Given the description of an element on the screen output the (x, y) to click on. 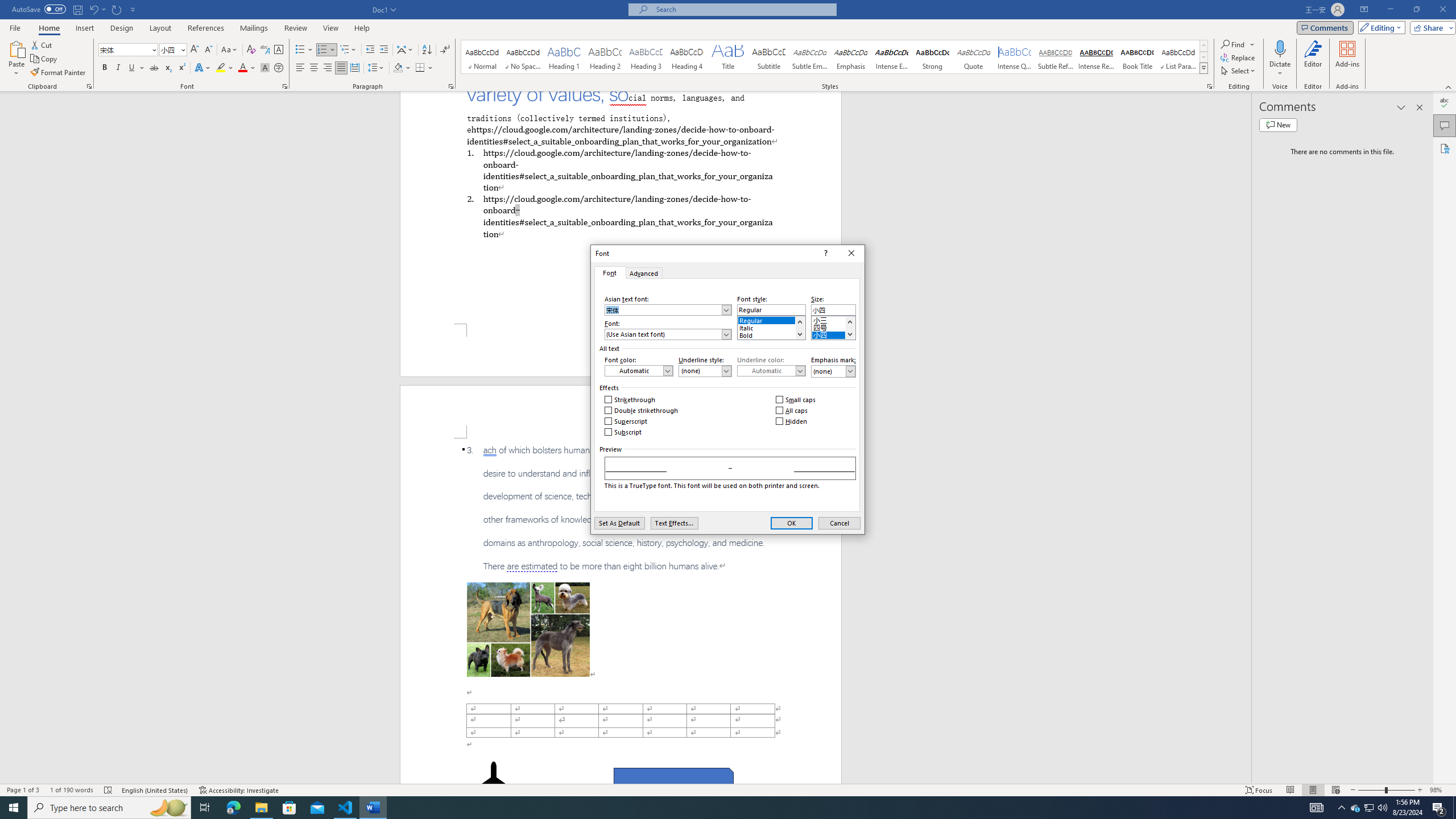
Select (1238, 69)
Styles... (1209, 85)
Subtitle (768, 56)
Morphological variation in six dogs (528, 629)
Grow Font (193, 49)
Type here to search (108, 807)
Double strikethrough (641, 410)
Font: (668, 333)
Styles (1203, 67)
Text Highlight Color Yellow (220, 67)
Font style: (771, 309)
Editor (1444, 102)
Save (77, 9)
Microsoft Edge (233, 807)
